Given the description of an element on the screen output the (x, y) to click on. 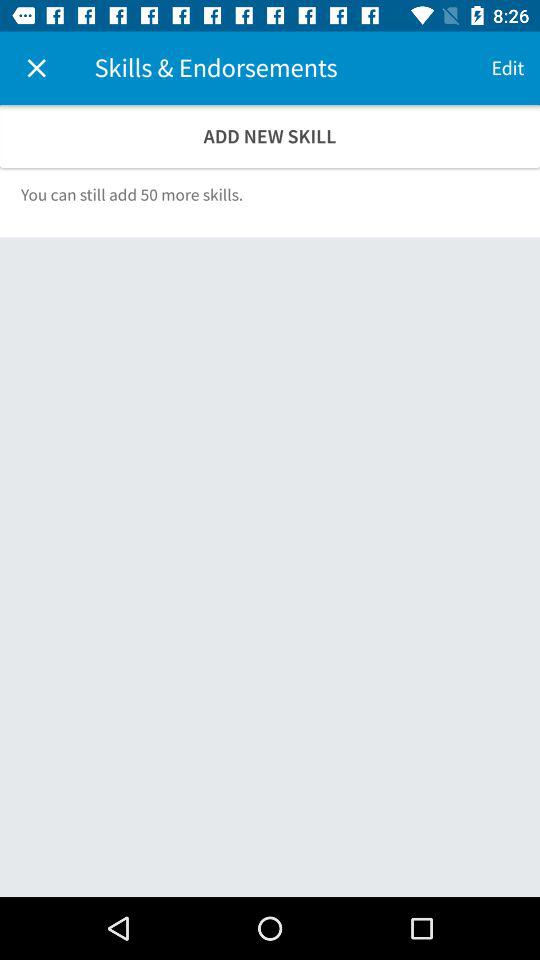
select the add new skill icon (270, 136)
